Given the description of an element on the screen output the (x, y) to click on. 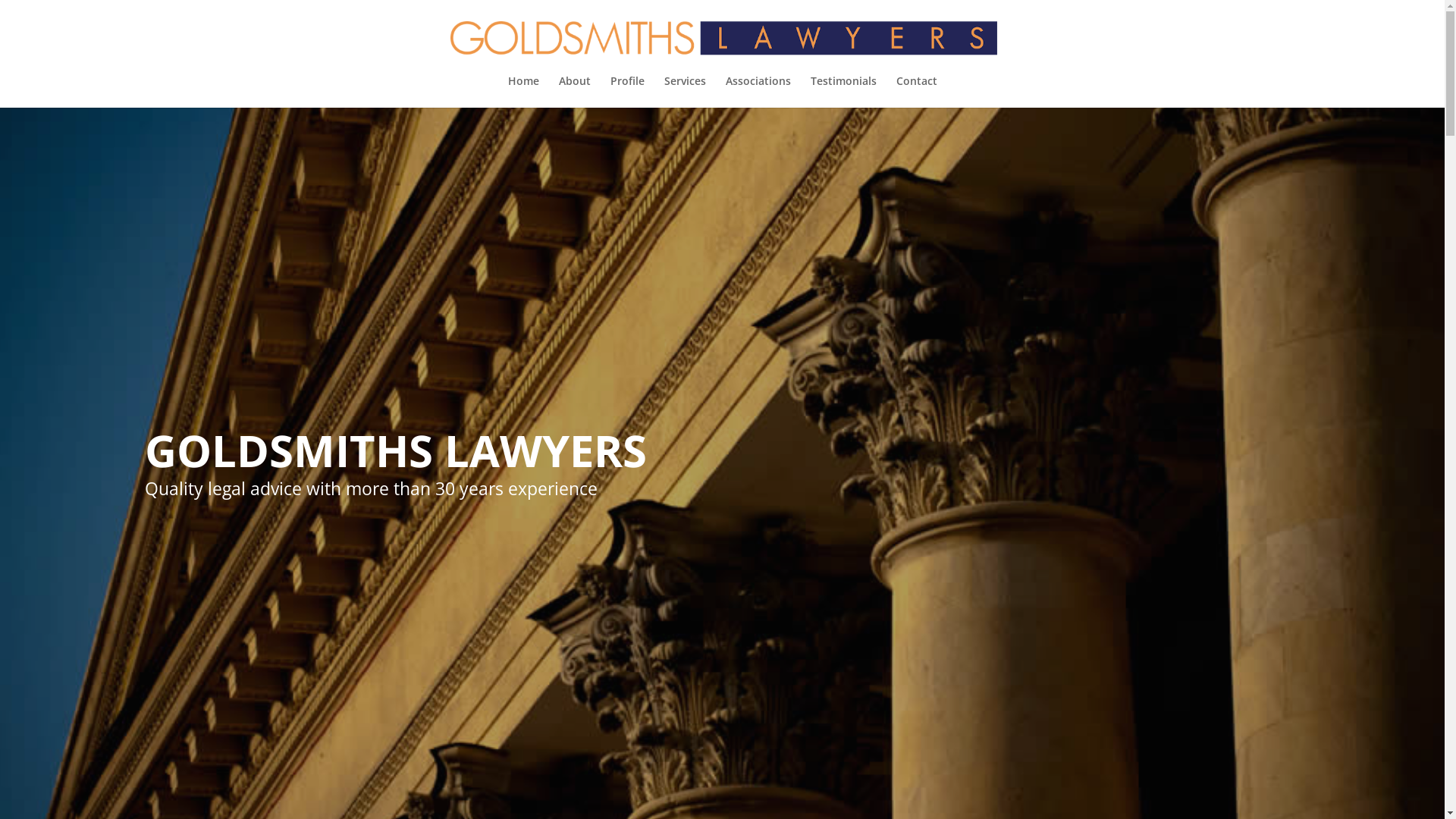
Testimonials Element type: text (842, 91)
Contact Element type: text (916, 91)
Home Element type: text (523, 91)
Services Element type: text (685, 91)
Profile Element type: text (626, 91)
Associations Element type: text (757, 91)
About Element type: text (573, 91)
